Given the description of an element on the screen output the (x, y) to click on. 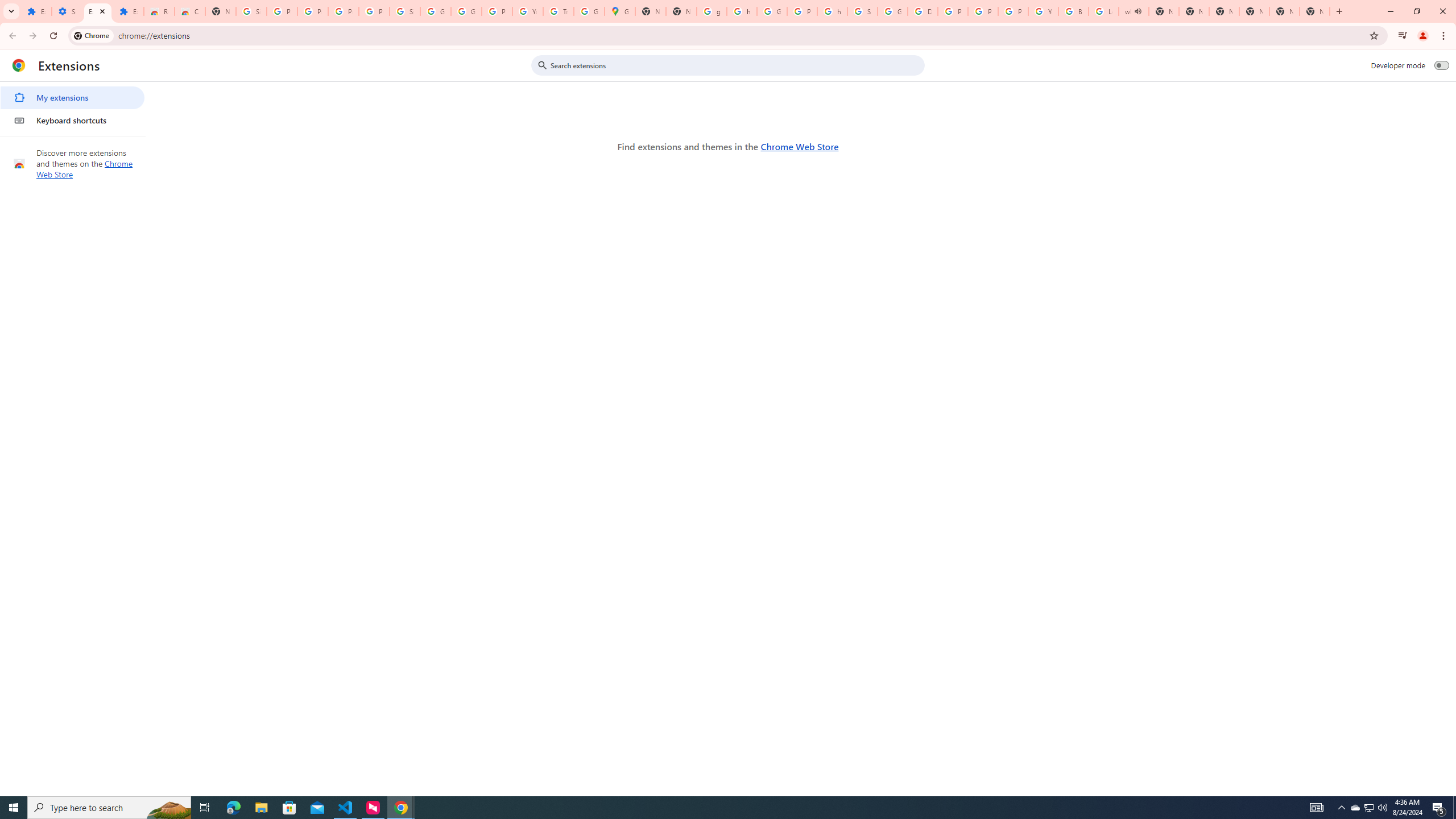
New Tab (1254, 11)
Google Maps (619, 11)
Sign in - Google Accounts (404, 11)
Extensions (127, 11)
Keyboard shortcuts (72, 119)
Search extensions (735, 65)
Mute tab (1138, 10)
YouTube (1042, 11)
Chrome Web Store - Themes (189, 11)
